Given the description of an element on the screen output the (x, y) to click on. 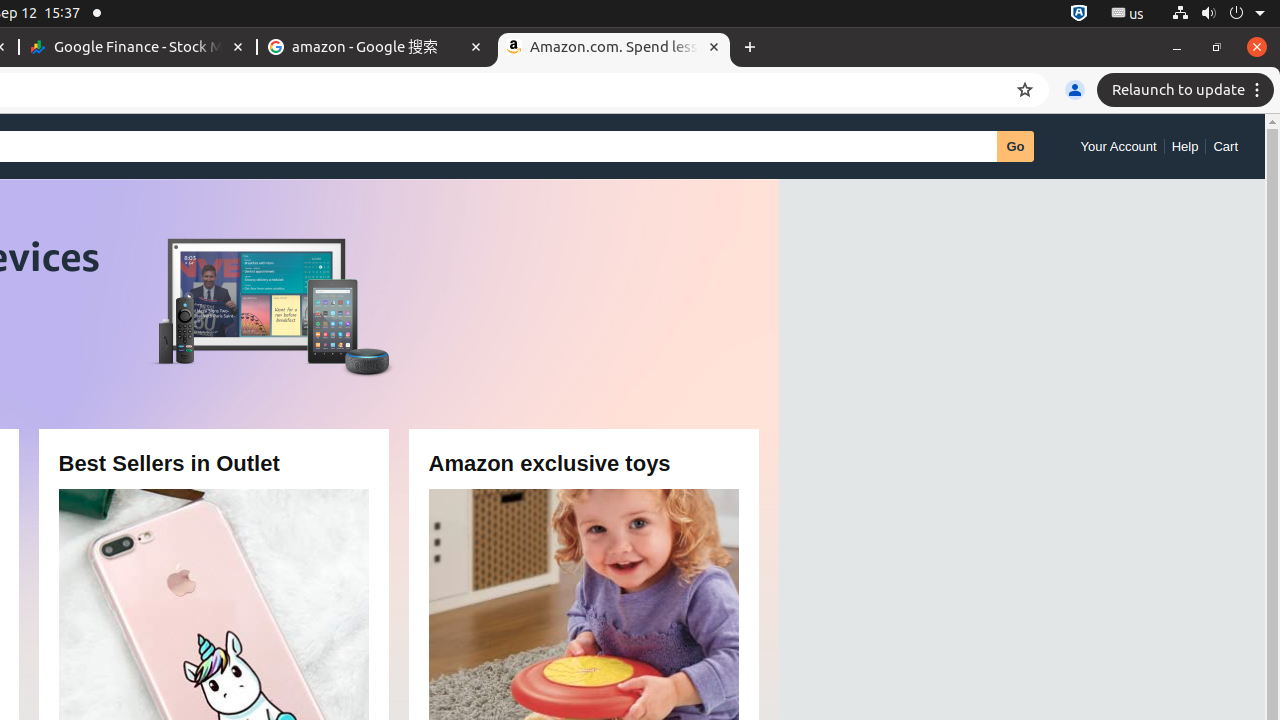
Go Element type: push-button (1015, 146)
Your Account Element type: link (1118, 146)
Cart Element type: link (1225, 146)
